Given the description of an element on the screen output the (x, y) to click on. 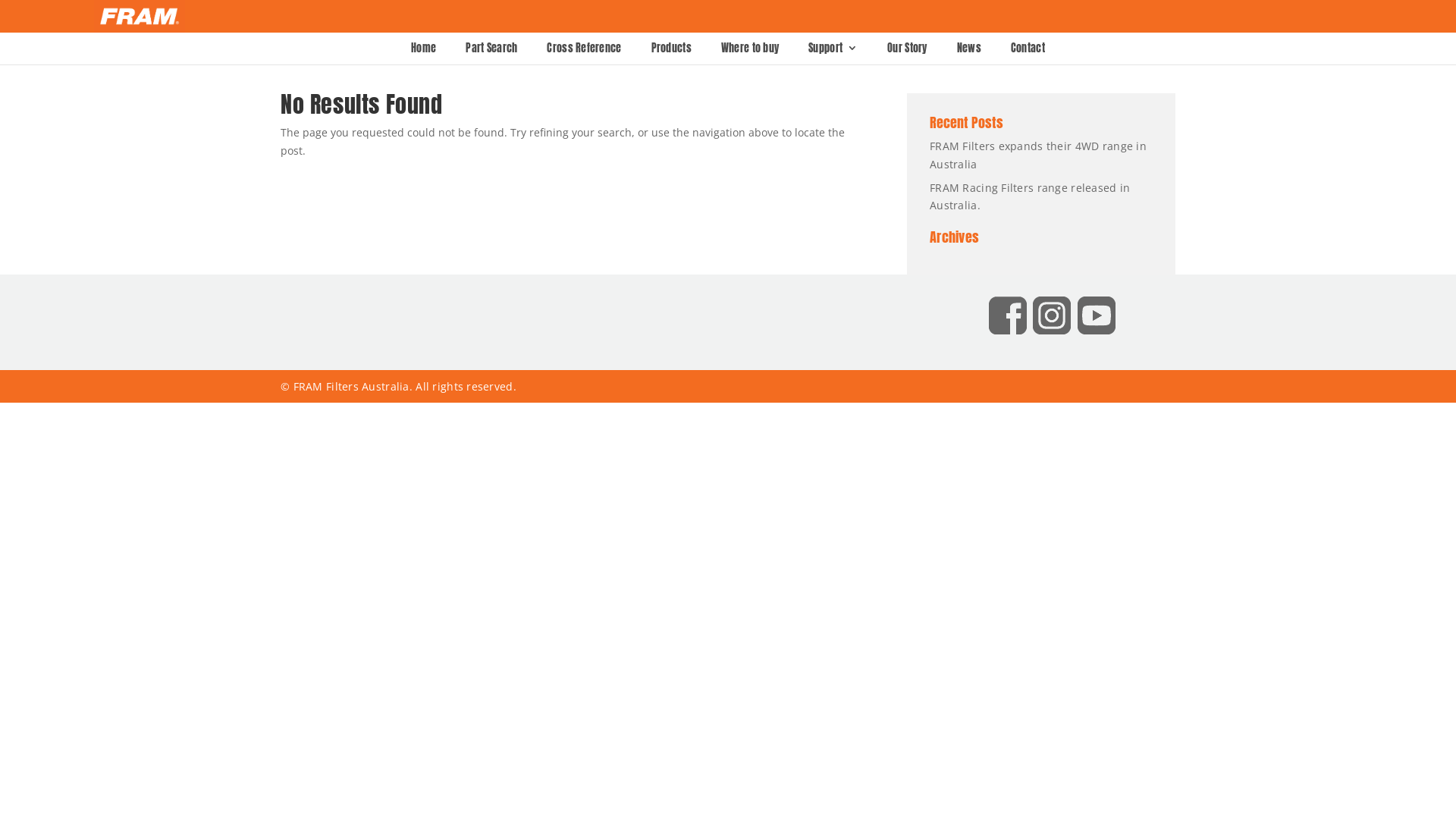
Archives Element type: text (1040, 240)
Support Element type: text (832, 48)
FRAM Racing Filters range released in Australia. Element type: text (1029, 196)
FRAM Filters expands their 4WD range in Australia Element type: text (1037, 154)
News Element type: text (969, 48)
Products Element type: text (671, 48)
Cross Reference Element type: text (583, 48)
Where to buy Element type: text (749, 48)
Part Search Element type: text (491, 48)
Our Story Element type: text (907, 48)
Contact Element type: text (1027, 48)
   Element type: text (1010, 330)
Home Element type: text (423, 48)
